Given the description of an element on the screen output the (x, y) to click on. 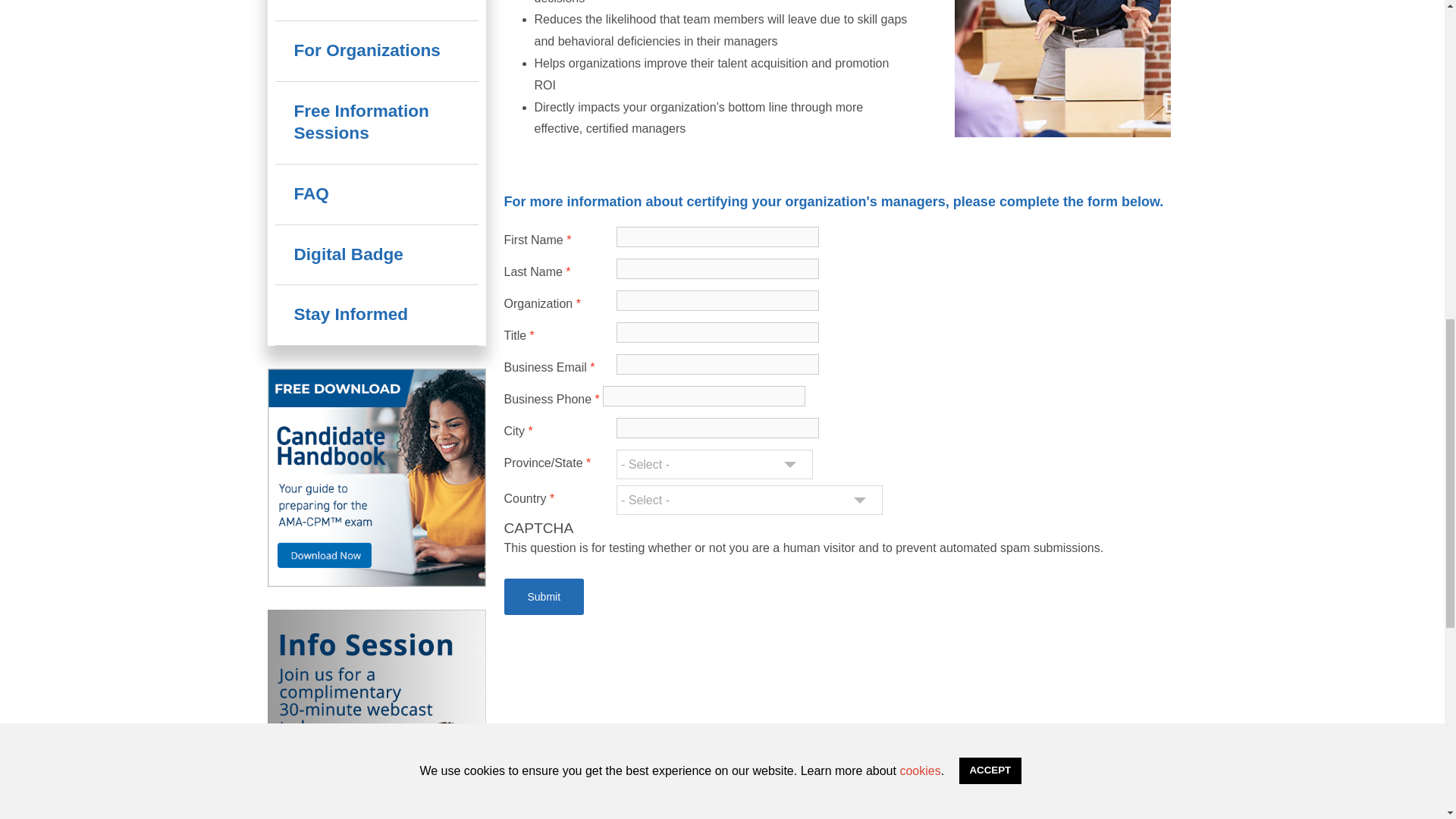
Digital Badge (376, 255)
Submit (543, 596)
FAQ (376, 194)
For Organizations (376, 51)
Maintain (376, 10)
Free Information Sessions (376, 122)
